Given the description of an element on the screen output the (x, y) to click on. 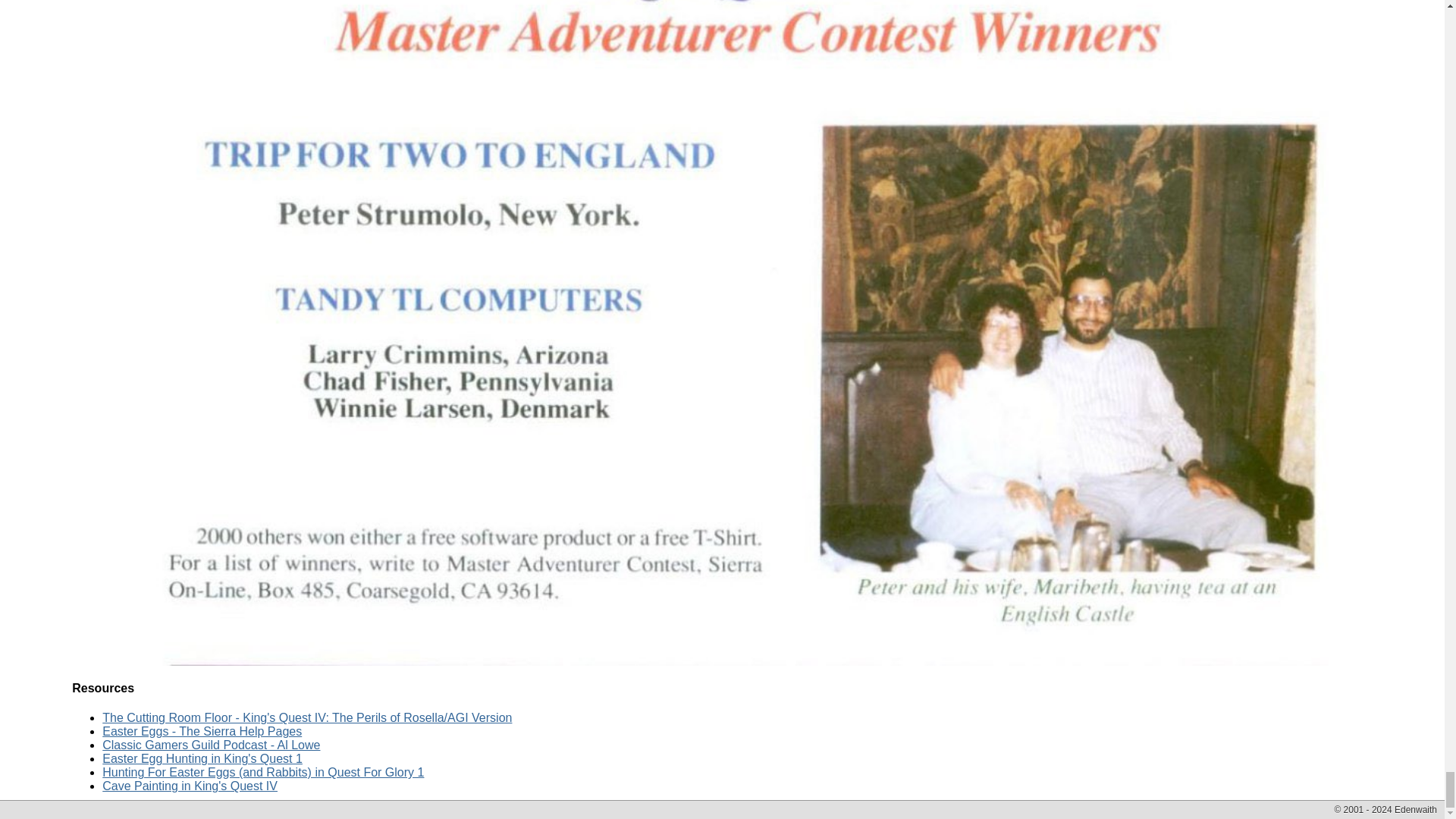
Easter Eggs - The Sierra Help Pages (201, 730)
Easter Egg Hunting in King's Quest 1 (201, 758)
Cave Painting in King's Quest IV (189, 785)
Classic Gamers Guild Podcast - Al Lowe (210, 744)
